Given the description of an element on the screen output the (x, y) to click on. 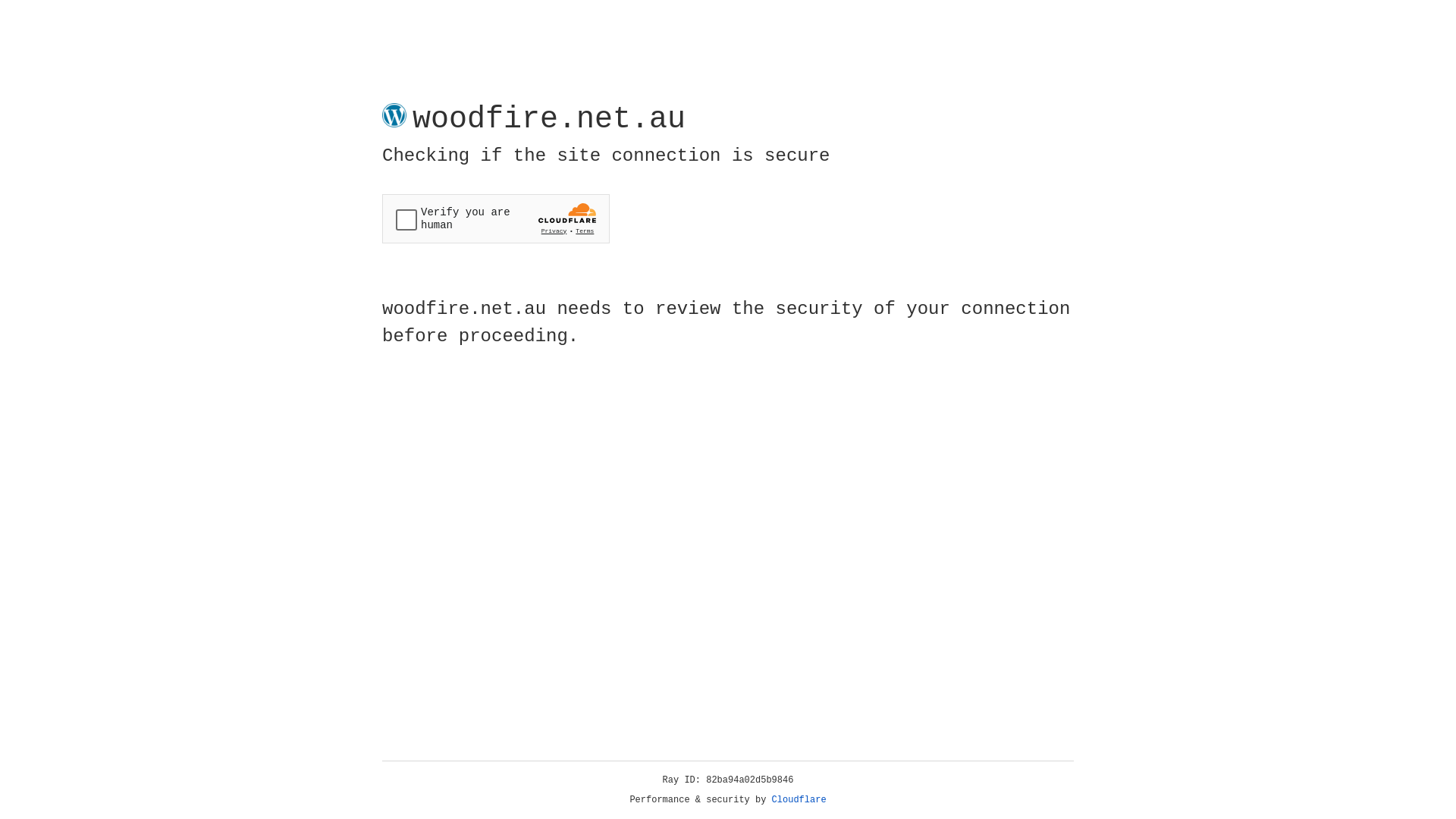
Widget containing a Cloudflare security challenge Element type: hover (495, 218)
Cloudflare Element type: text (798, 799)
